Given the description of an element on the screen output the (x, y) to click on. 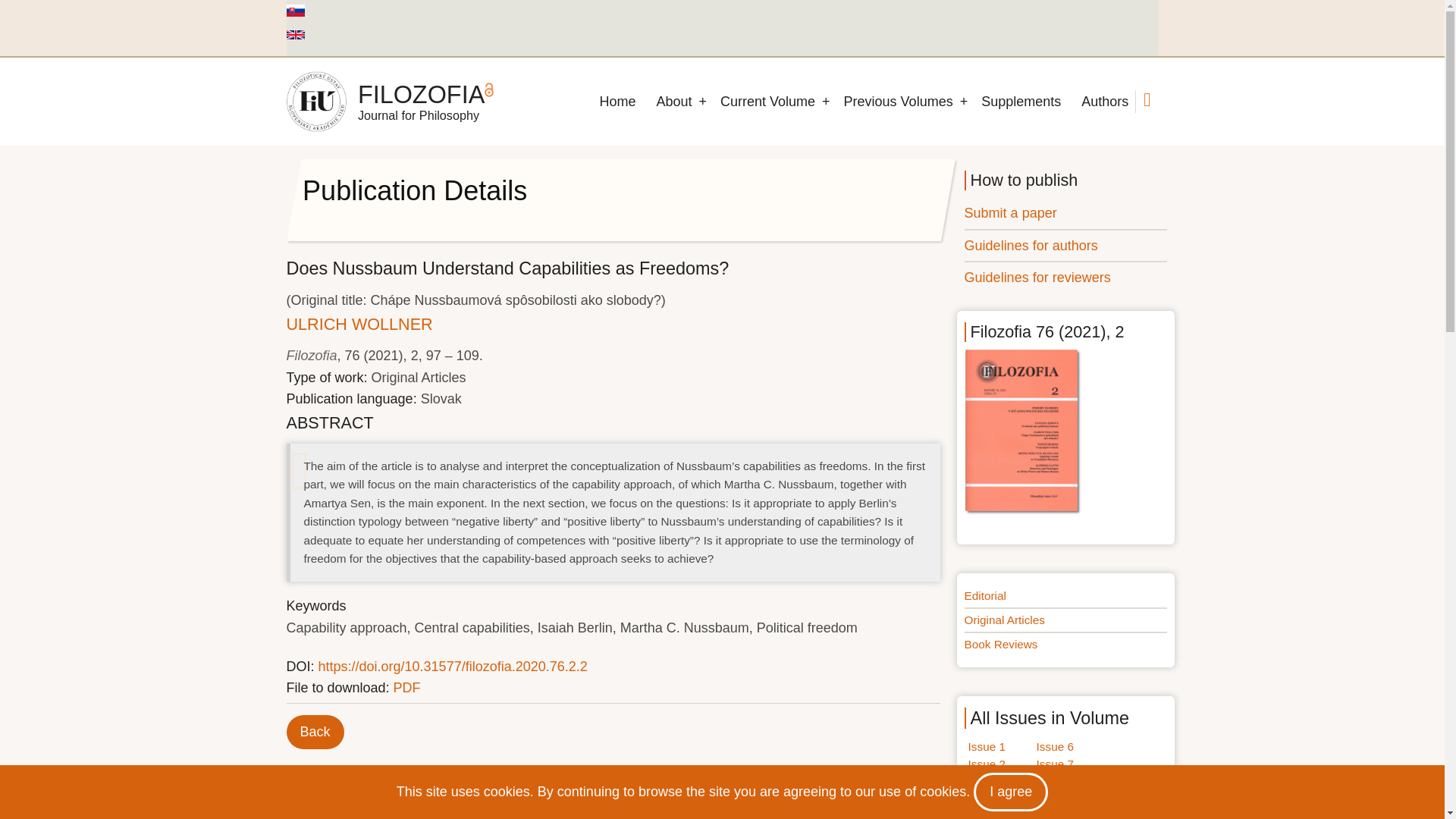
English (295, 34)
ULRICH WOLLNER (359, 323)
Current Volume (767, 101)
FILOZOFIA (421, 94)
About (673, 101)
Home (316, 101)
Home (617, 101)
Authors (1104, 101)
Home (421, 94)
Previous Volumes (898, 101)
Supplements (1020, 101)
